Given the description of an element on the screen output the (x, y) to click on. 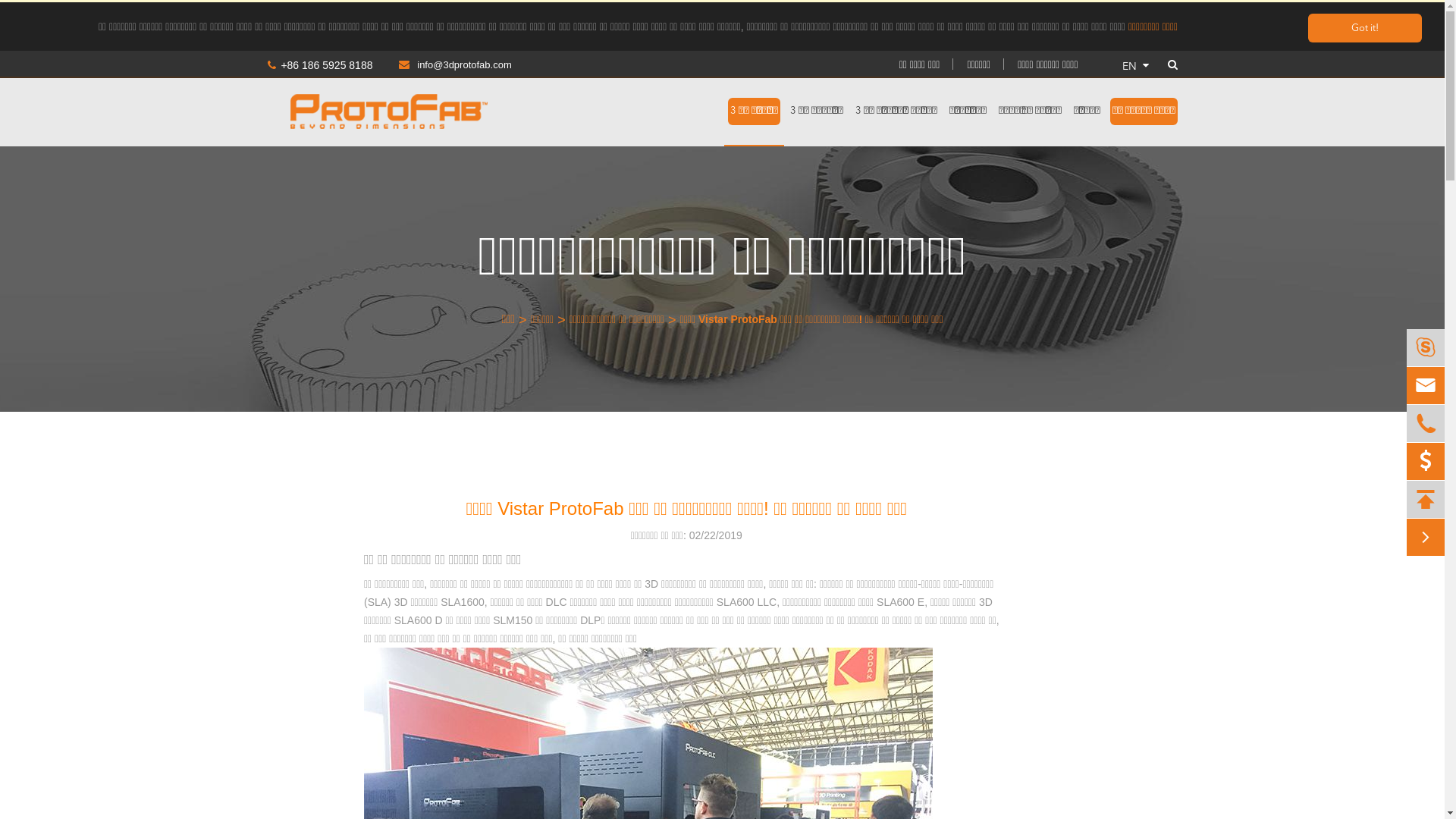
Got it! Element type: text (1364, 27)
0 Element type: text (1425, 461)
info@3dprotofab.com Element type: text (443, 64)
